Given the description of an element on the screen output the (x, y) to click on. 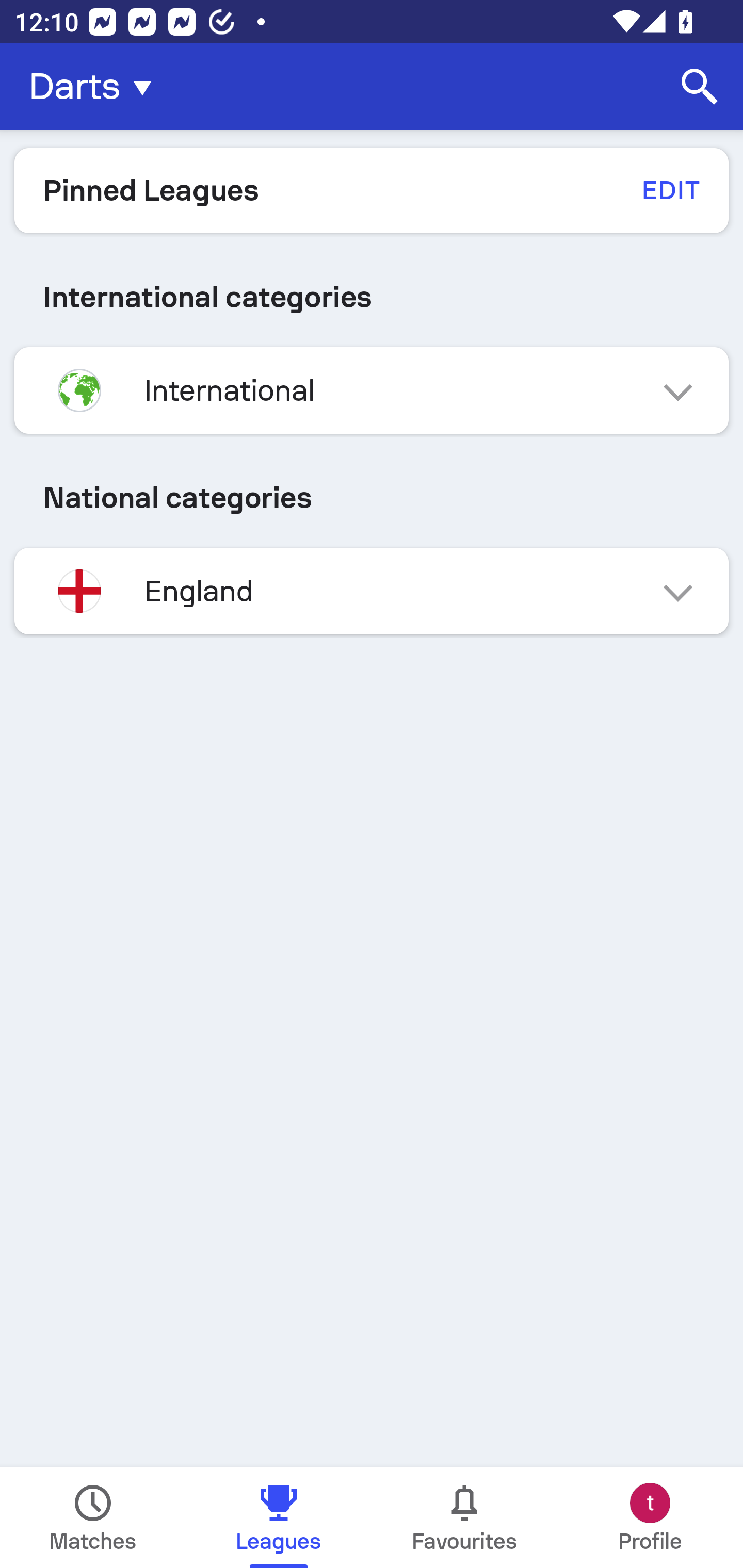
Darts (96, 86)
Search (699, 86)
Pinned Leagues EDIT (371, 190)
EDIT (670, 190)
International categories (371, 296)
International (371, 390)
National categories (371, 497)
England (371, 591)
Matches (92, 1517)
Favourites (464, 1517)
Profile (650, 1517)
